Given the description of an element on the screen output the (x, y) to click on. 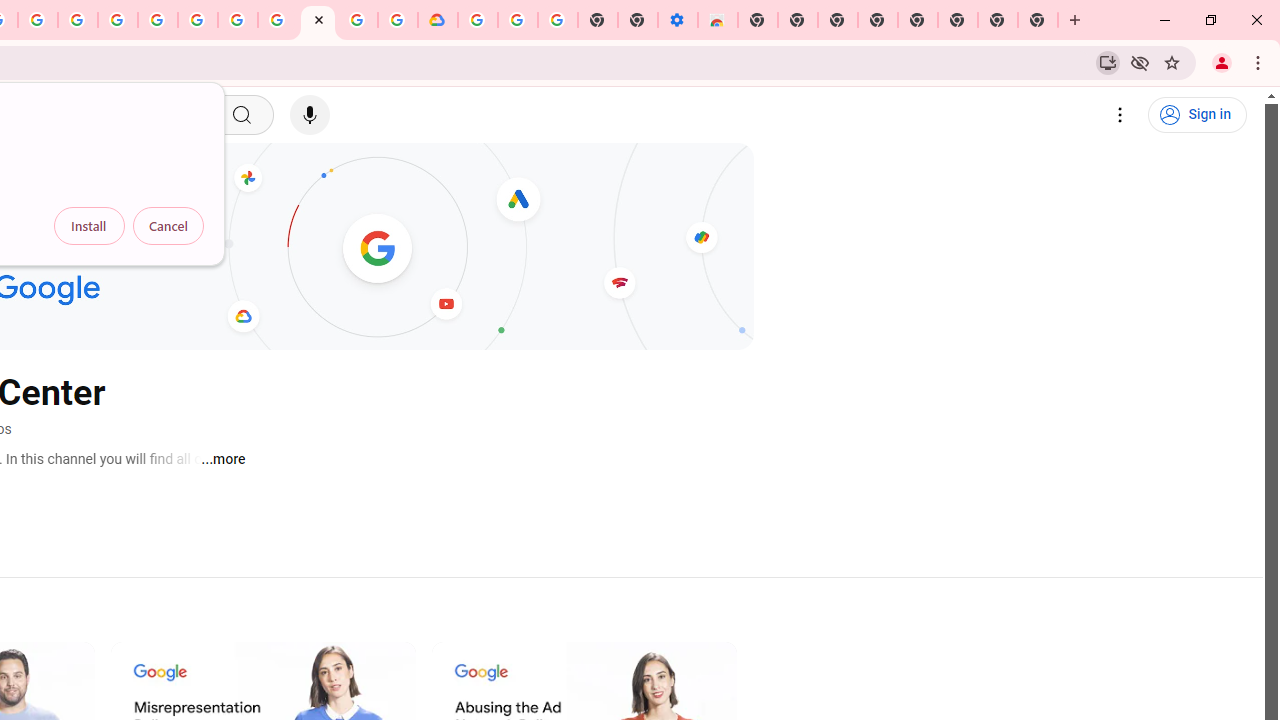
Google Account Help (237, 20)
Create your Google Account (357, 20)
Create your Google Account (37, 20)
